Given the description of an element on the screen output the (x, y) to click on. 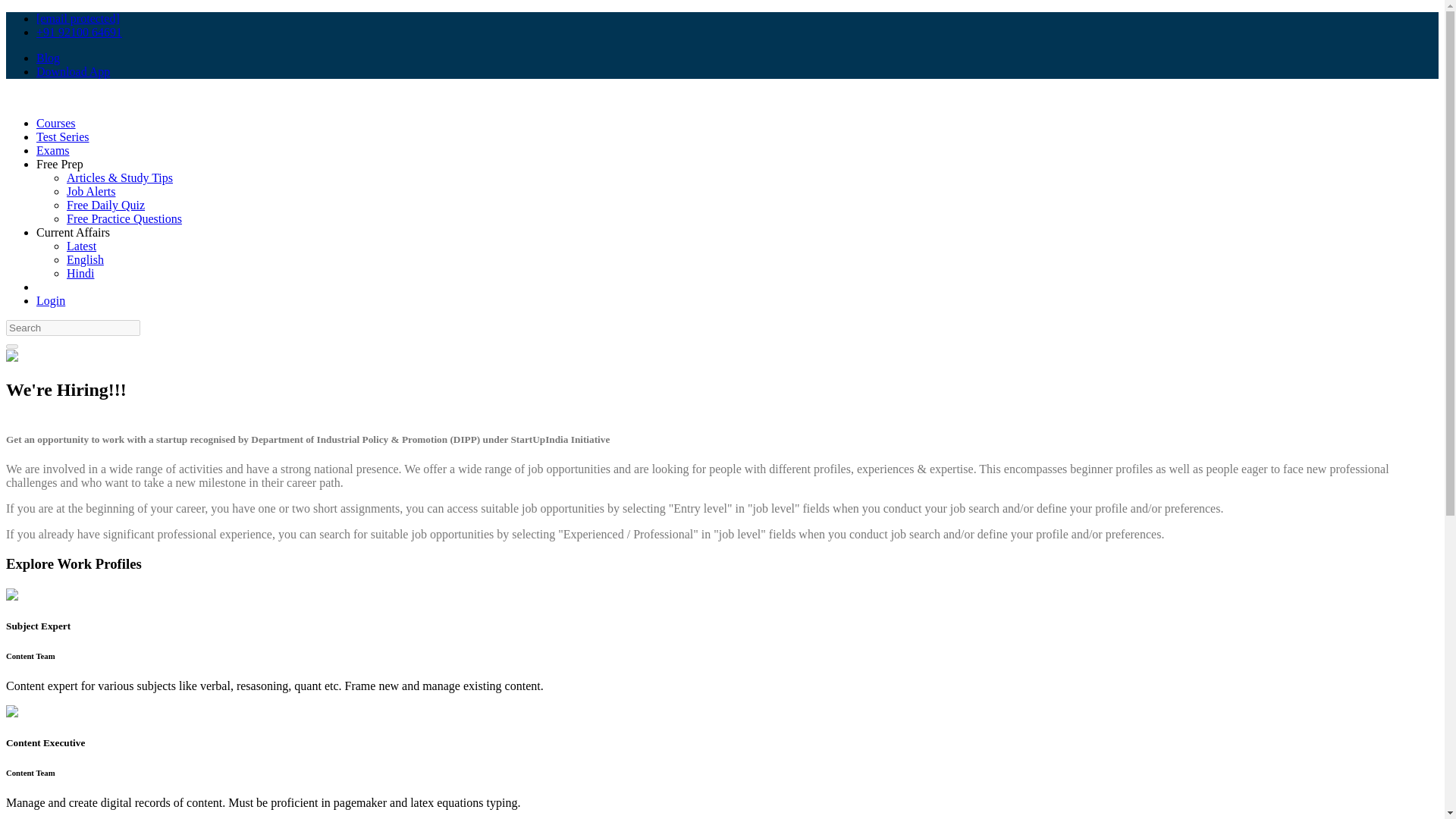
Courses (55, 123)
English (84, 259)
Test Series (62, 136)
Free Daily Quiz (105, 205)
Exams (52, 150)
Free Prep (59, 164)
Current Affairs (73, 232)
Blog (47, 57)
Free Practice Questions (124, 218)
Job Alerts (90, 191)
Latest (81, 245)
Hindi (80, 273)
Login (50, 300)
Download App (73, 71)
